Given the description of an element on the screen output the (x, y) to click on. 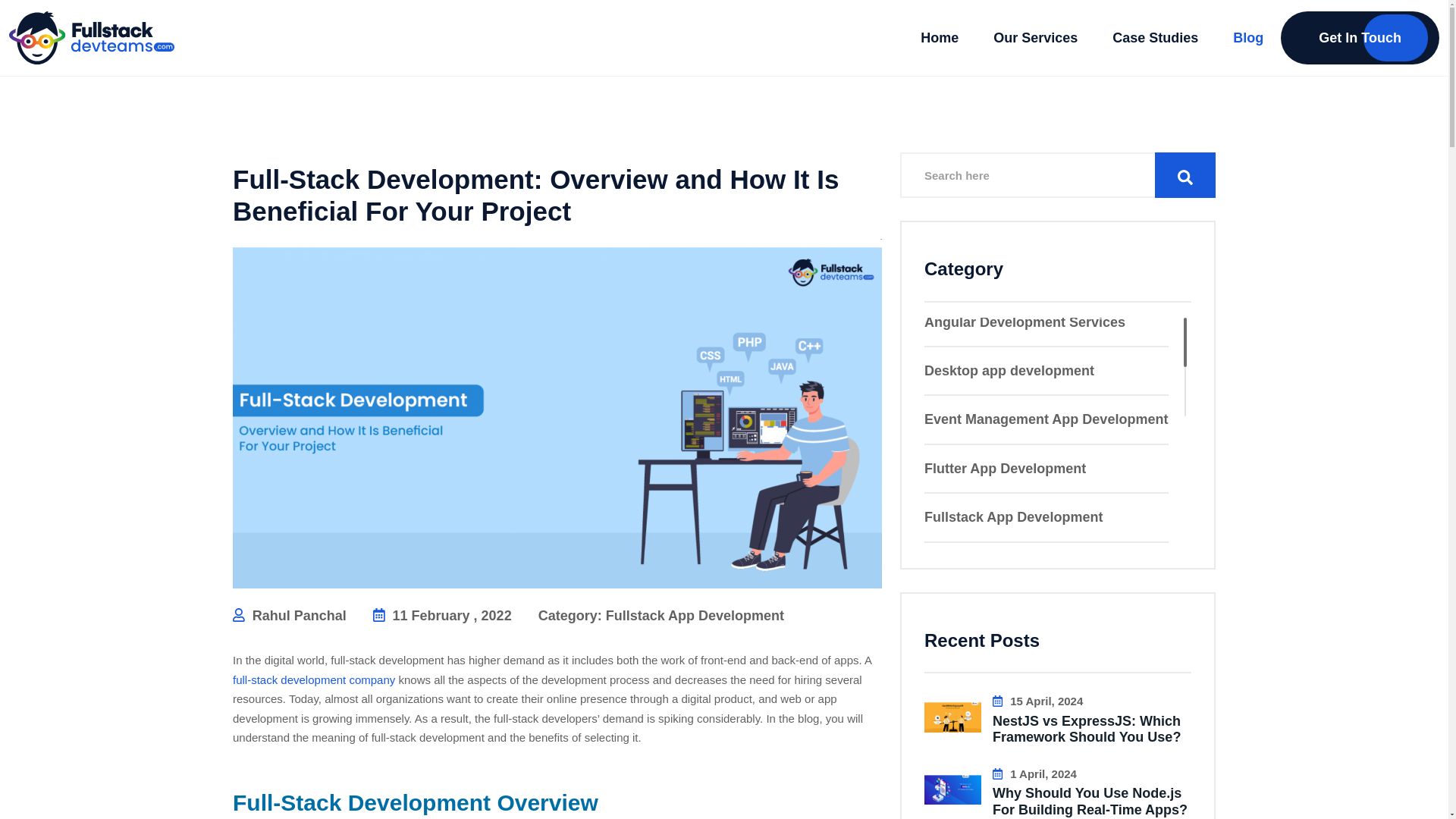
Rahul Panchal (289, 615)
Desktop app development (1046, 370)
Fullstack App Development (1046, 517)
full-stack development company (313, 680)
Our Services (1035, 38)
full-stack development company (313, 680)
Case Studies (1155, 38)
Flutter App Development (1046, 468)
Fullstack App Development (694, 615)
